Given the description of an element on the screen output the (x, y) to click on. 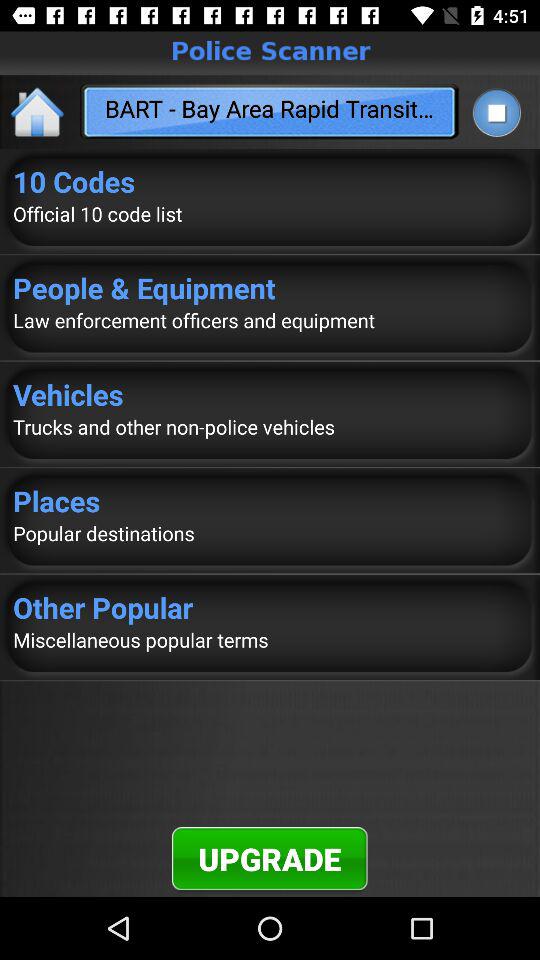
select app to the left of the bart bay area app (38, 111)
